Given the description of an element on the screen output the (x, y) to click on. 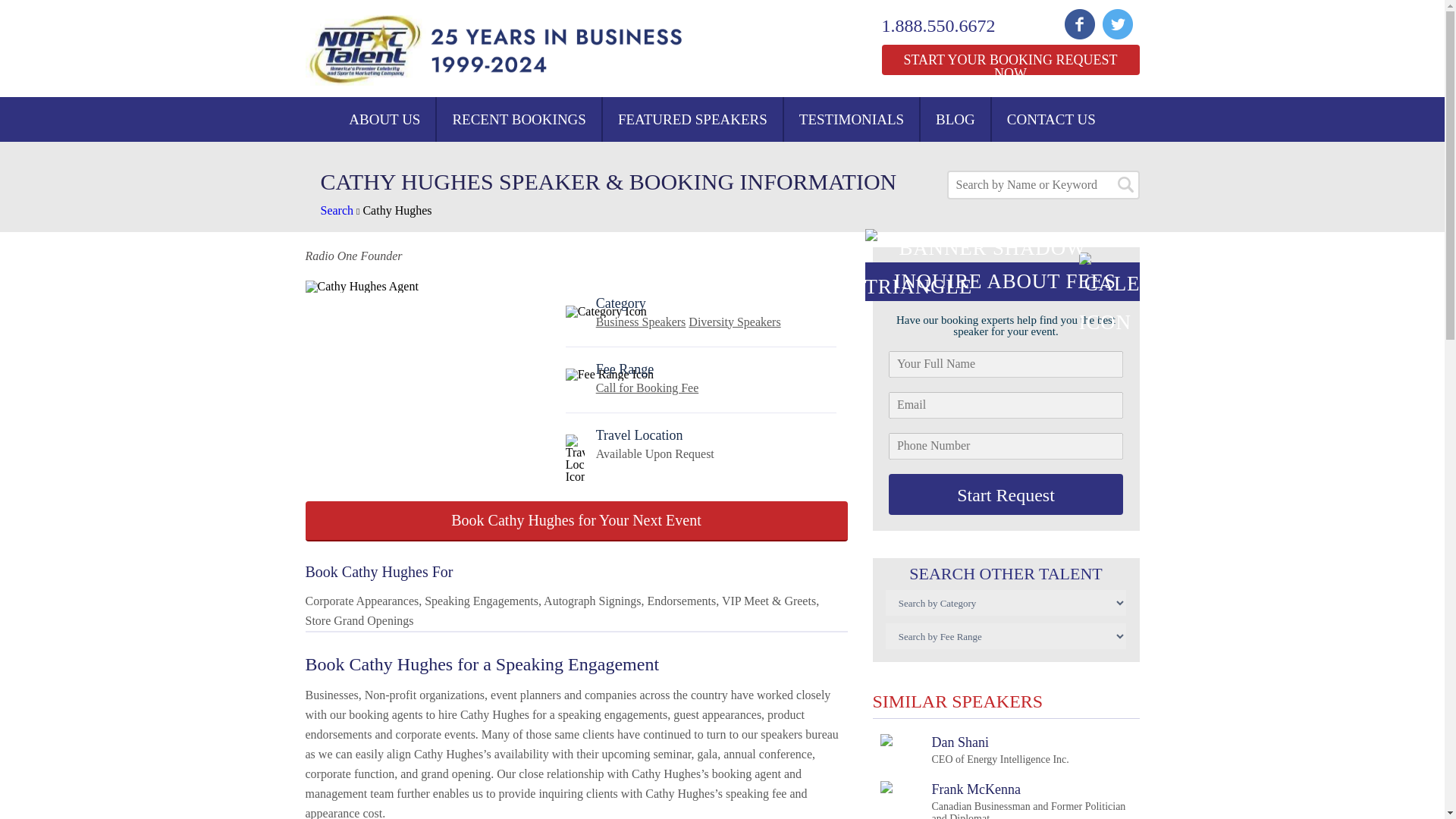
ABOUT US (384, 119)
Diversity Speakers (734, 321)
Call for Booking Fee (646, 387)
BLOG (955, 119)
START YOUR BOOKING REQUEST NOW (1009, 60)
CONTACT US (1050, 119)
Search (336, 210)
1.888.550.6672 (947, 25)
Start Request (1006, 494)
